Given the description of an element on the screen output the (x, y) to click on. 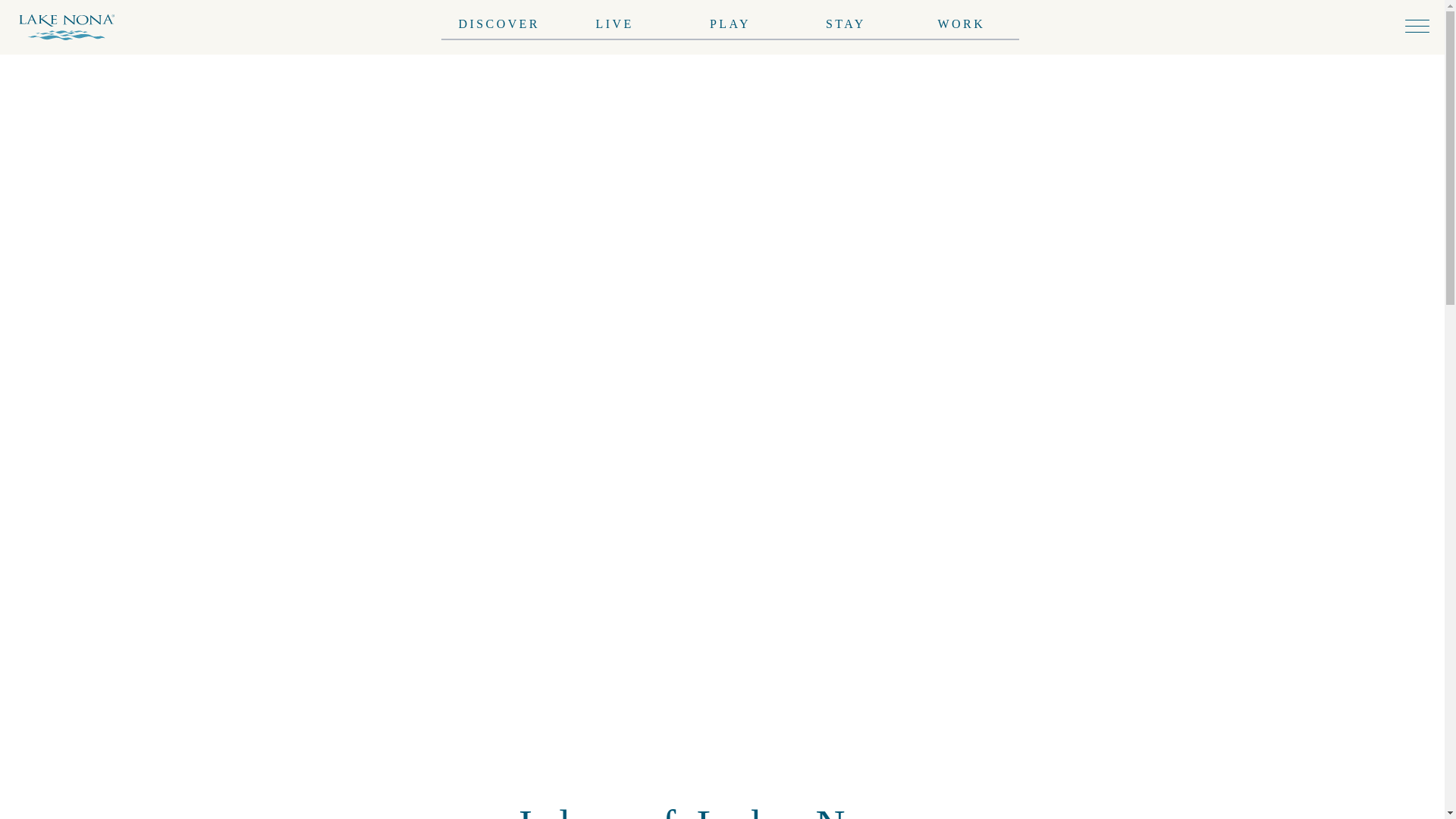
LIVE (614, 18)
WORK (961, 21)
DISCOVER (498, 12)
STAY (845, 21)
Lake Nona (73, 26)
PLAY (730, 19)
